Given the description of an element on the screen output the (x, y) to click on. 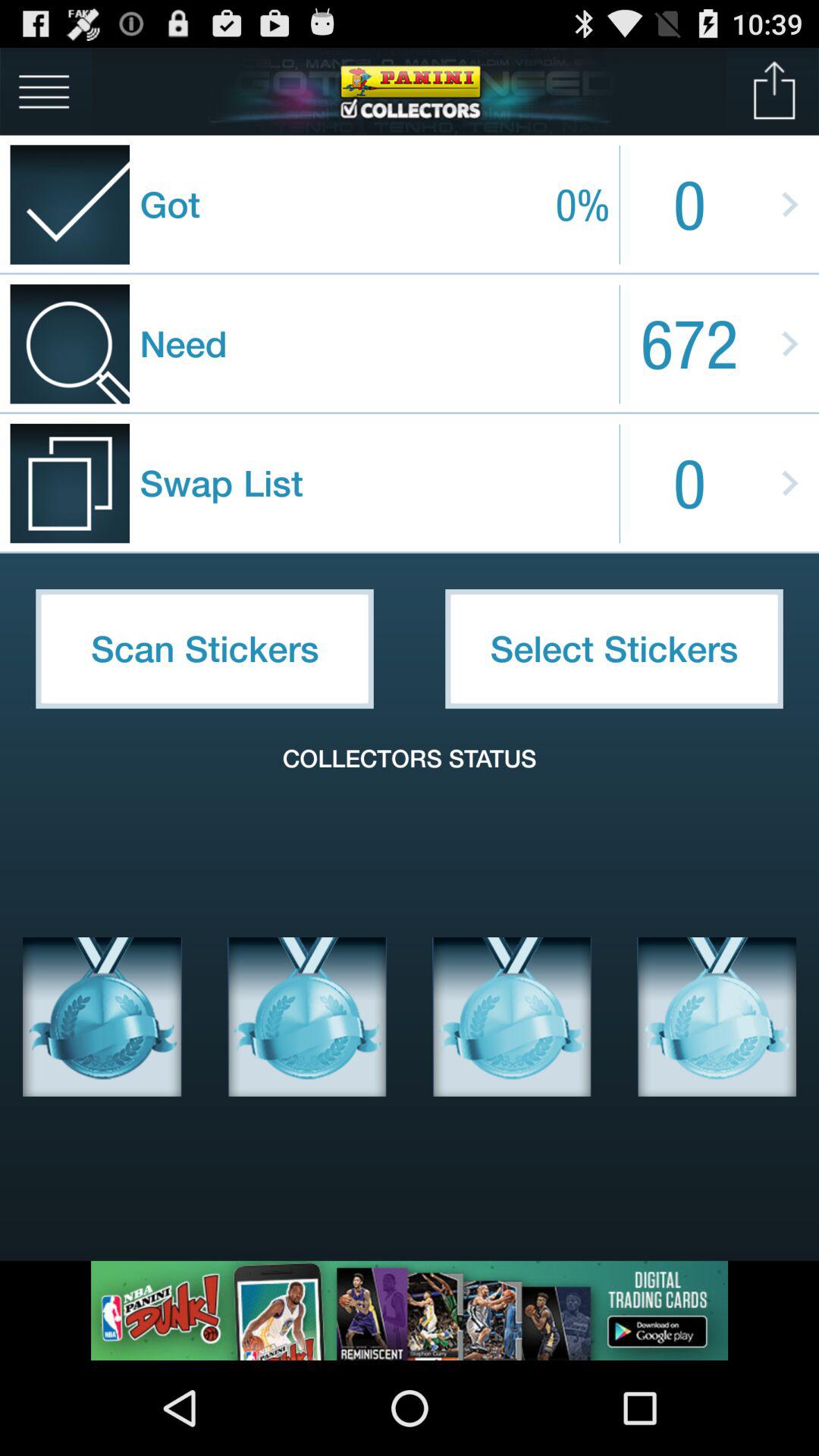
launch icon next to the got icon (43, 91)
